Given the description of an element on the screen output the (x, y) to click on. 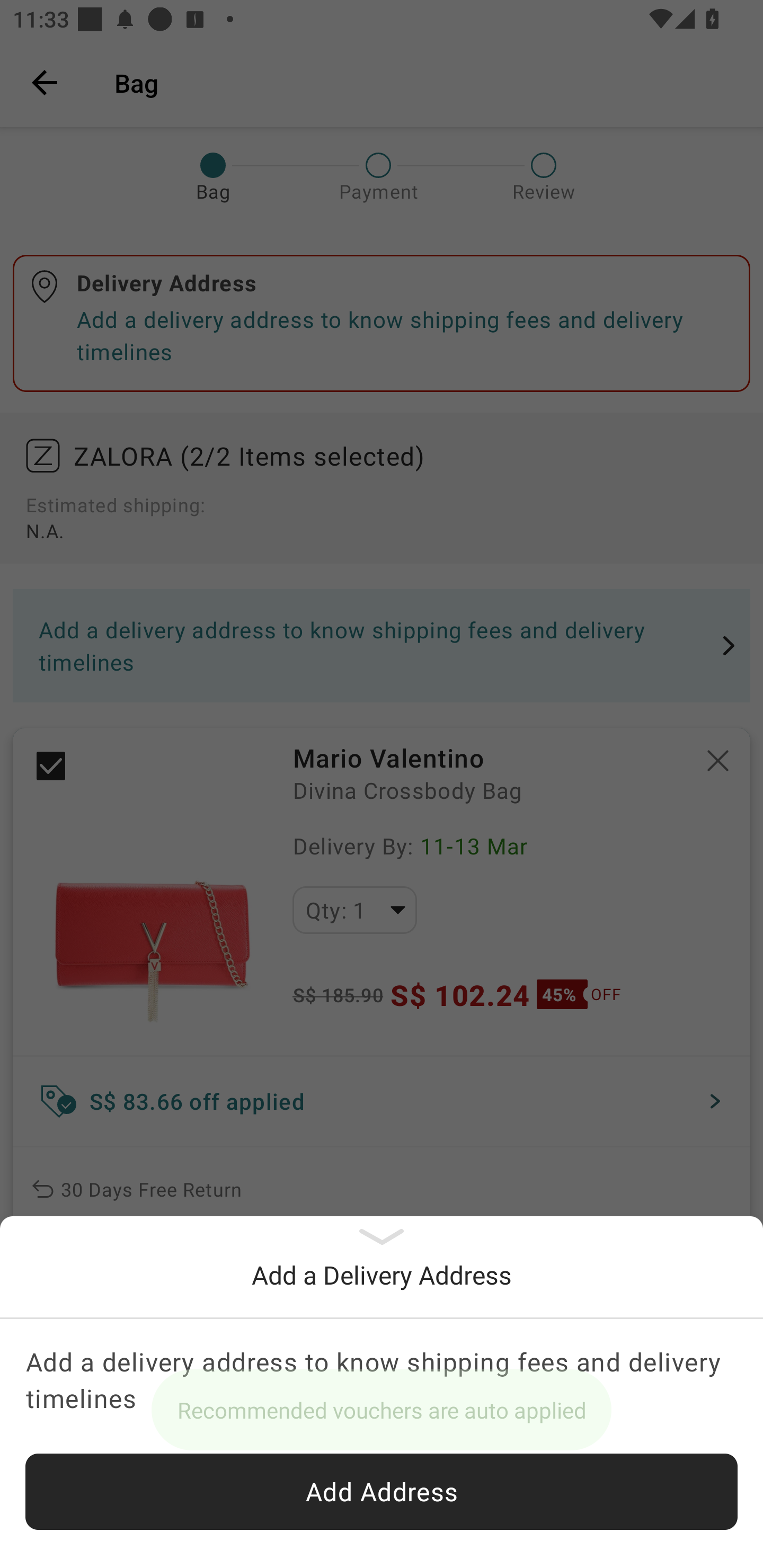
Add Address (381, 1491)
